Given the description of an element on the screen output the (x, y) to click on. 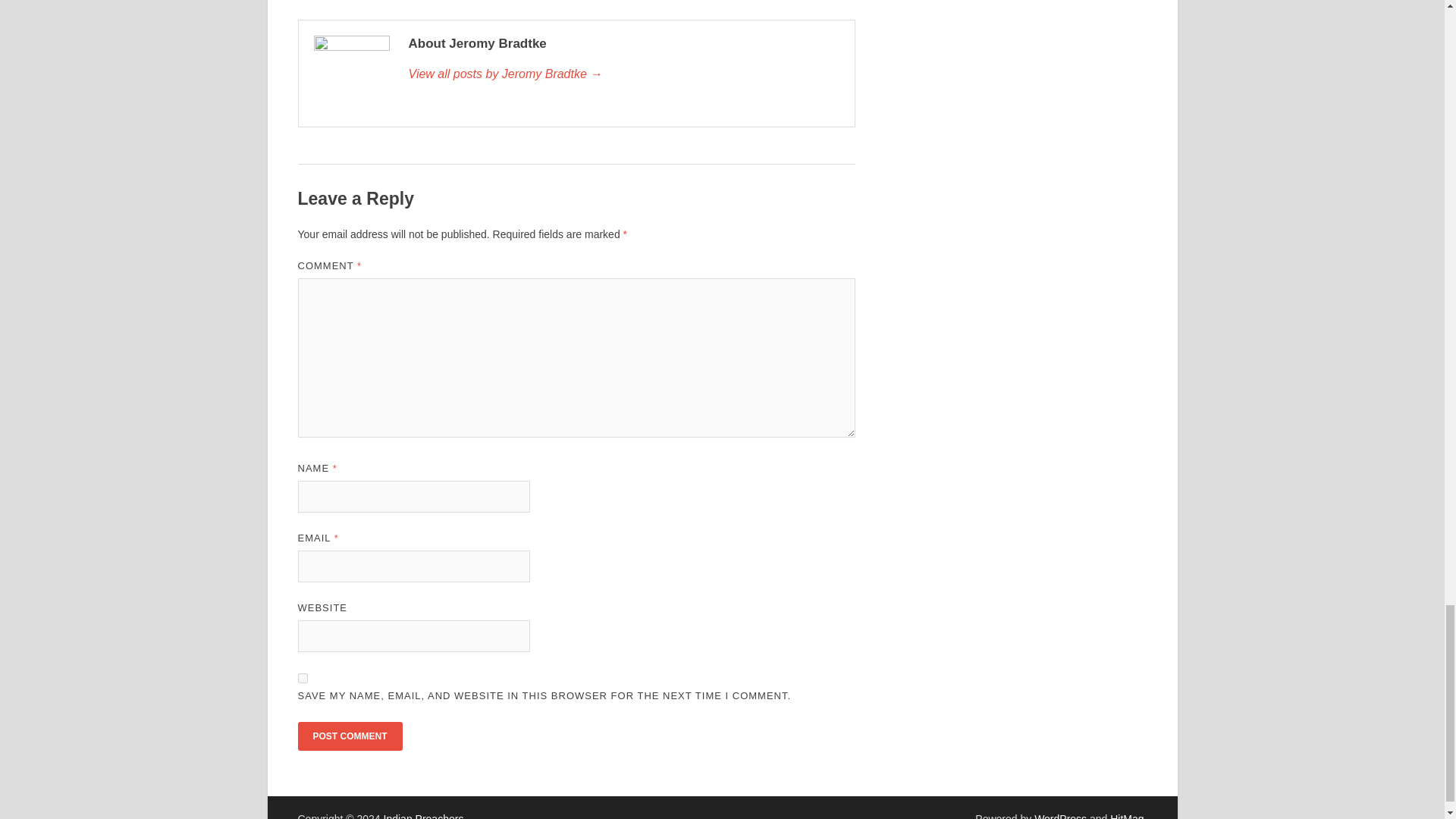
yes (302, 678)
Post Comment (349, 736)
Post Comment (349, 736)
Jeromy Bradtke (622, 74)
